Given the description of an element on the screen output the (x, y) to click on. 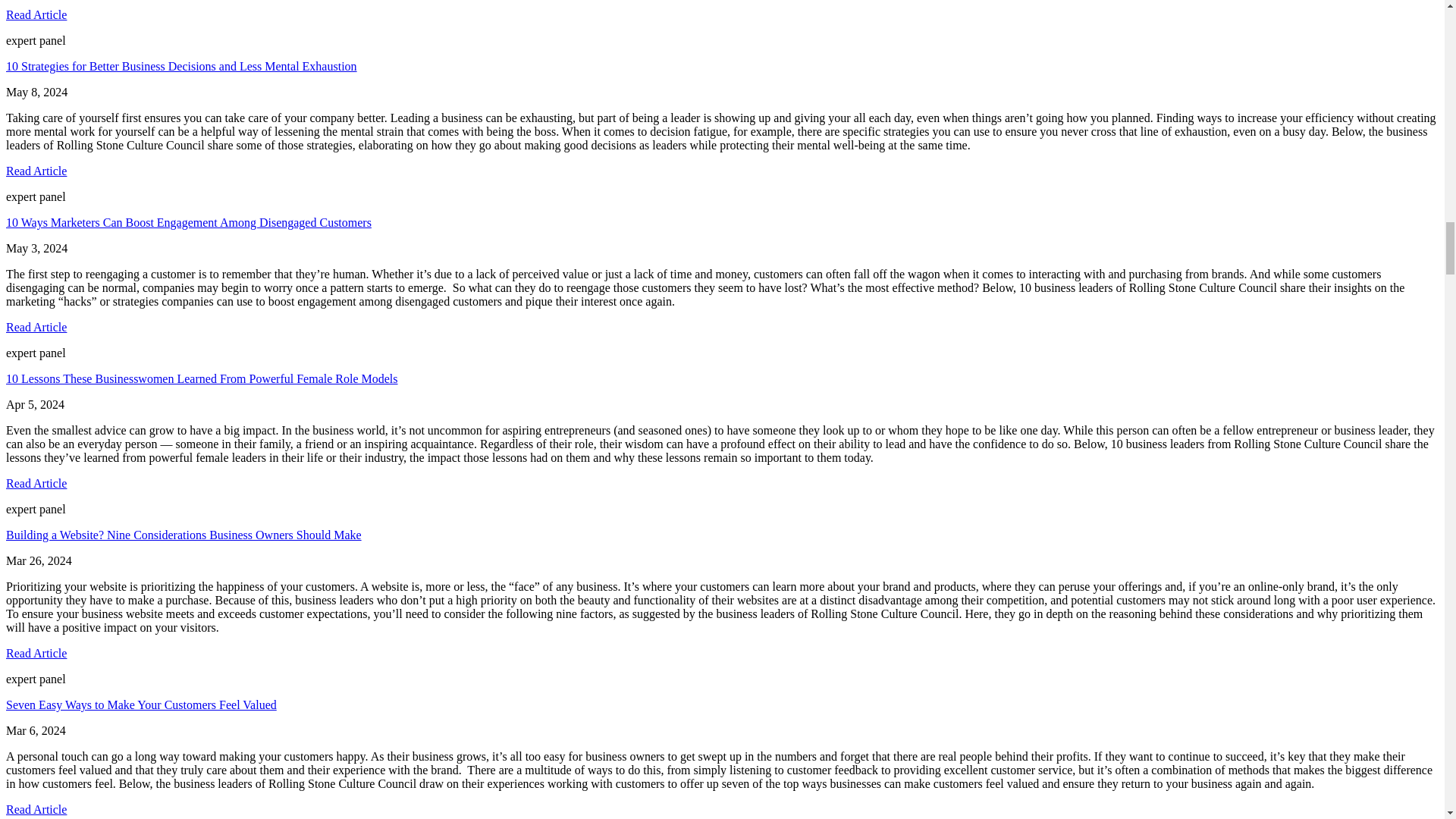
Read Article (35, 482)
Read Article (35, 653)
Read Article (35, 327)
Read Article (35, 14)
Read Article (35, 170)
Seven Easy Ways to Make Your Customers Feel Valued (140, 704)
Read Article (35, 809)
